Given the description of an element on the screen output the (x, y) to click on. 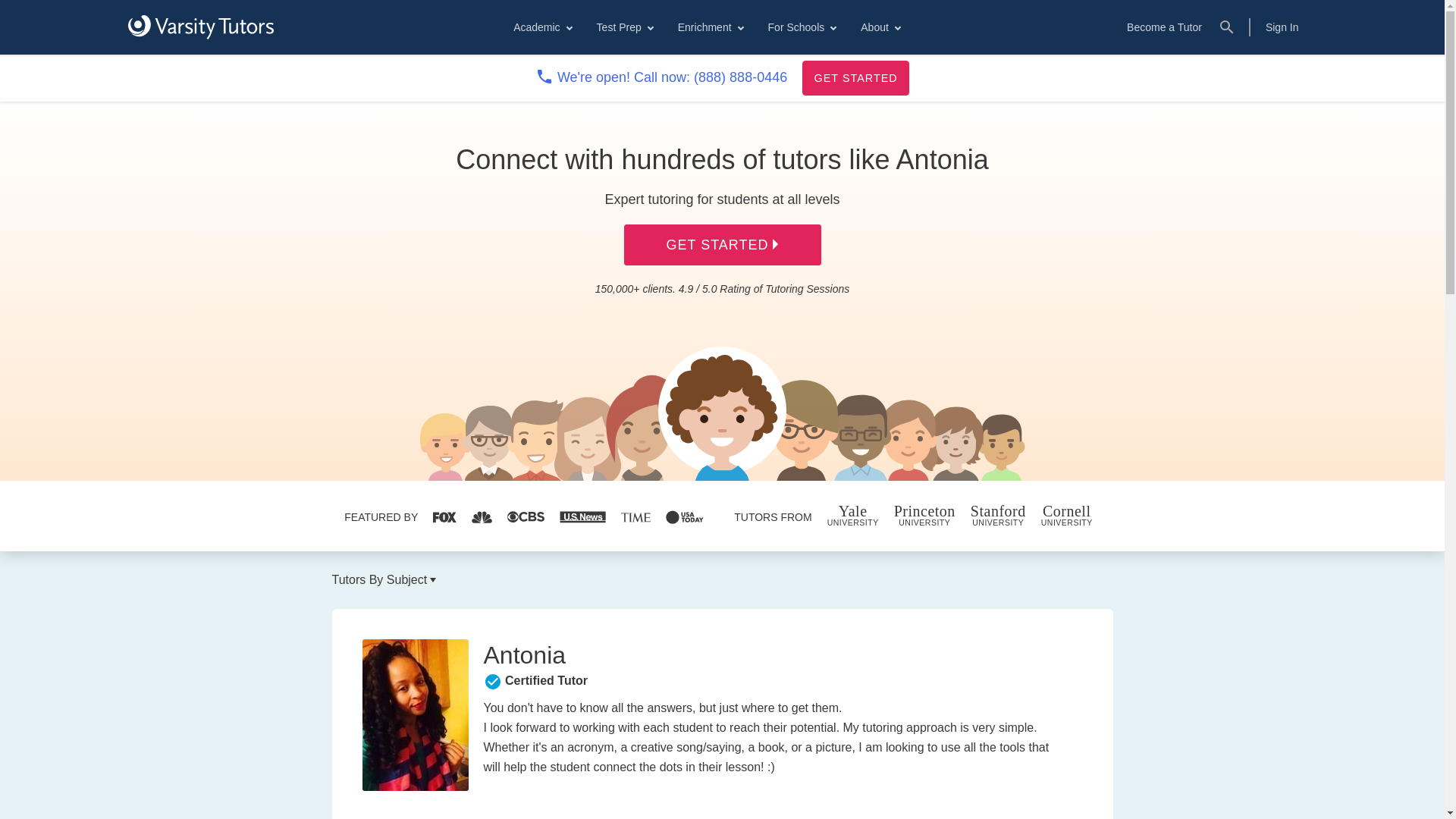
Varsity Tutors (200, 27)
GET STARTED (855, 77)
Academic (541, 27)
Varsity Tutors (200, 26)
